Given the description of an element on the screen output the (x, y) to click on. 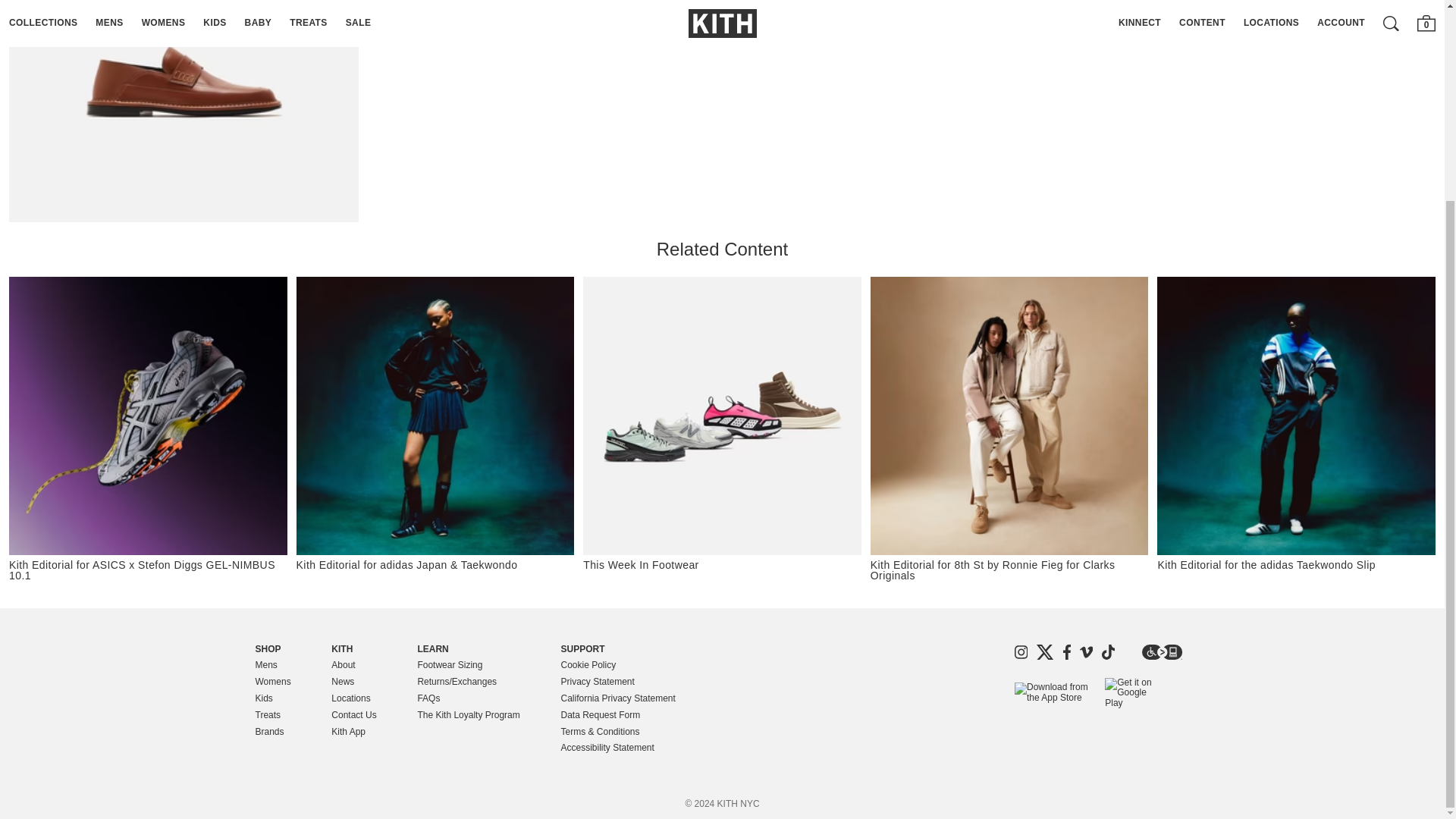
X (1044, 652)
essential Accessibility Icon (1161, 652)
X (1044, 652)
Instagram (1020, 652)
Vimeo (1086, 652)
